Given the description of an element on the screen output the (x, y) to click on. 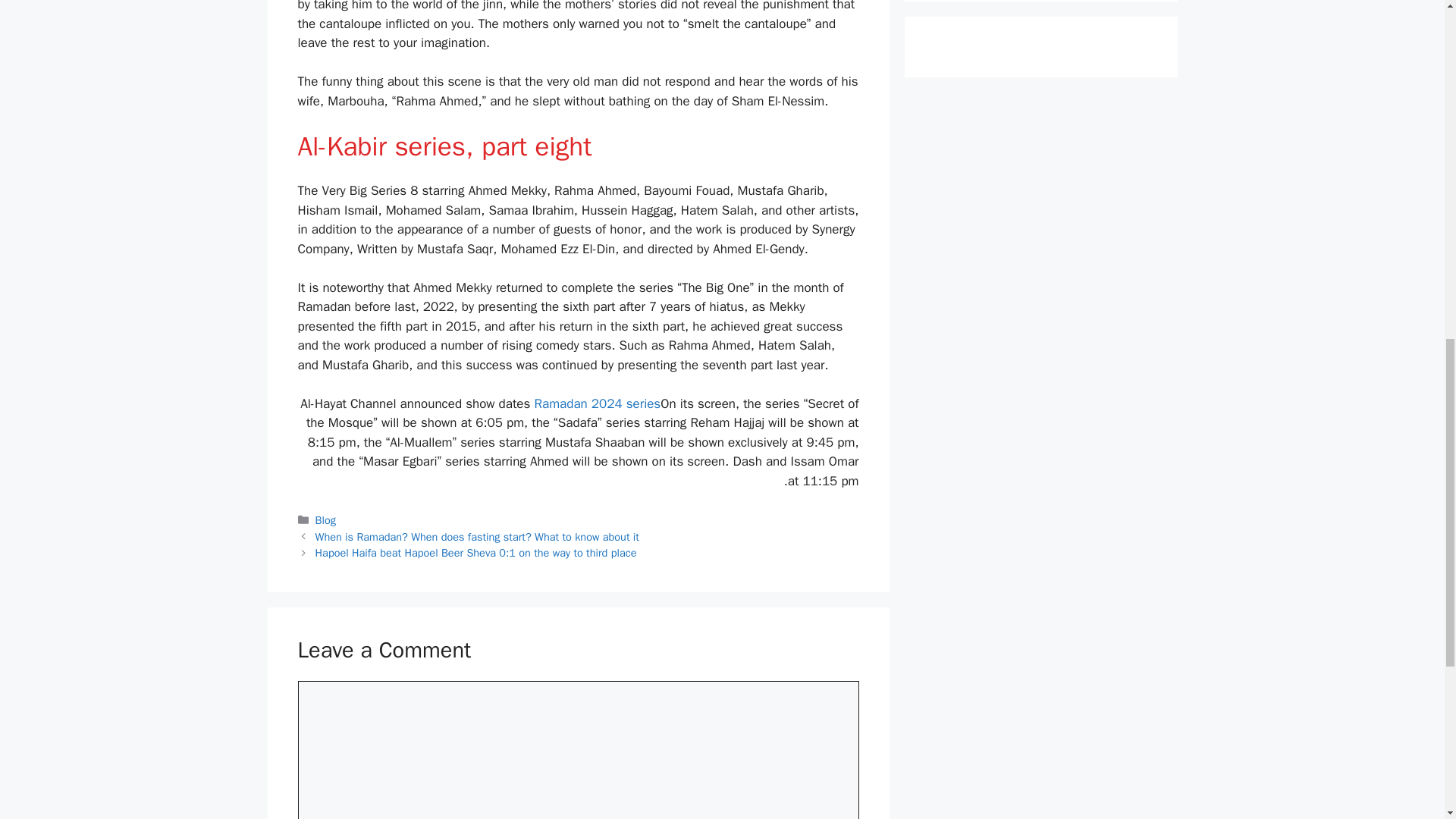
Ramadan 2024 series (597, 403)
Blog (325, 520)
